Given the description of an element on the screen output the (x, y) to click on. 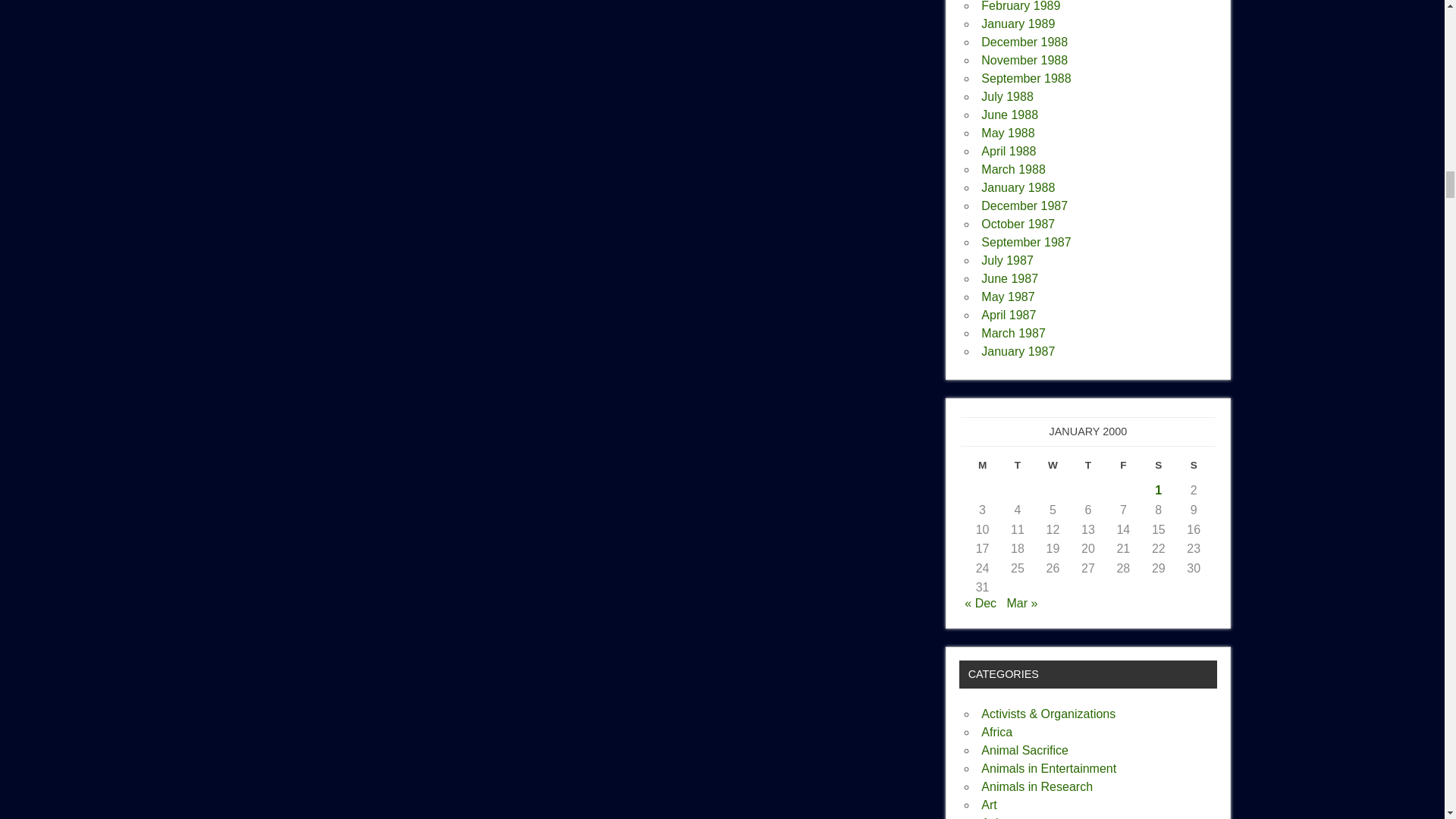
Wednesday (1052, 468)
Tuesday (1017, 468)
Sunday (1193, 468)
Monday (980, 468)
Friday (1122, 468)
Thursday (1087, 468)
Saturday (1158, 468)
